Given the description of an element on the screen output the (x, y) to click on. 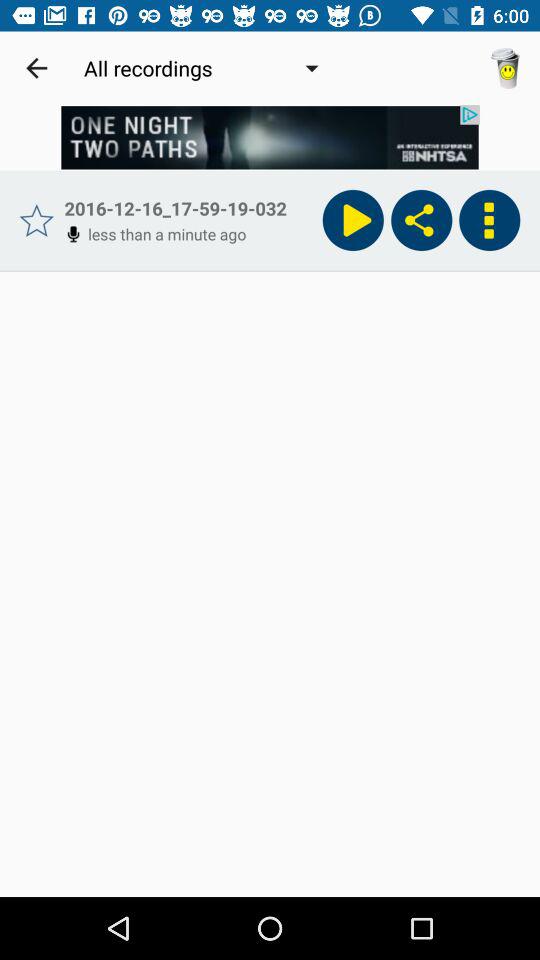
click advertisement (270, 137)
